Given the description of an element on the screen output the (x, y) to click on. 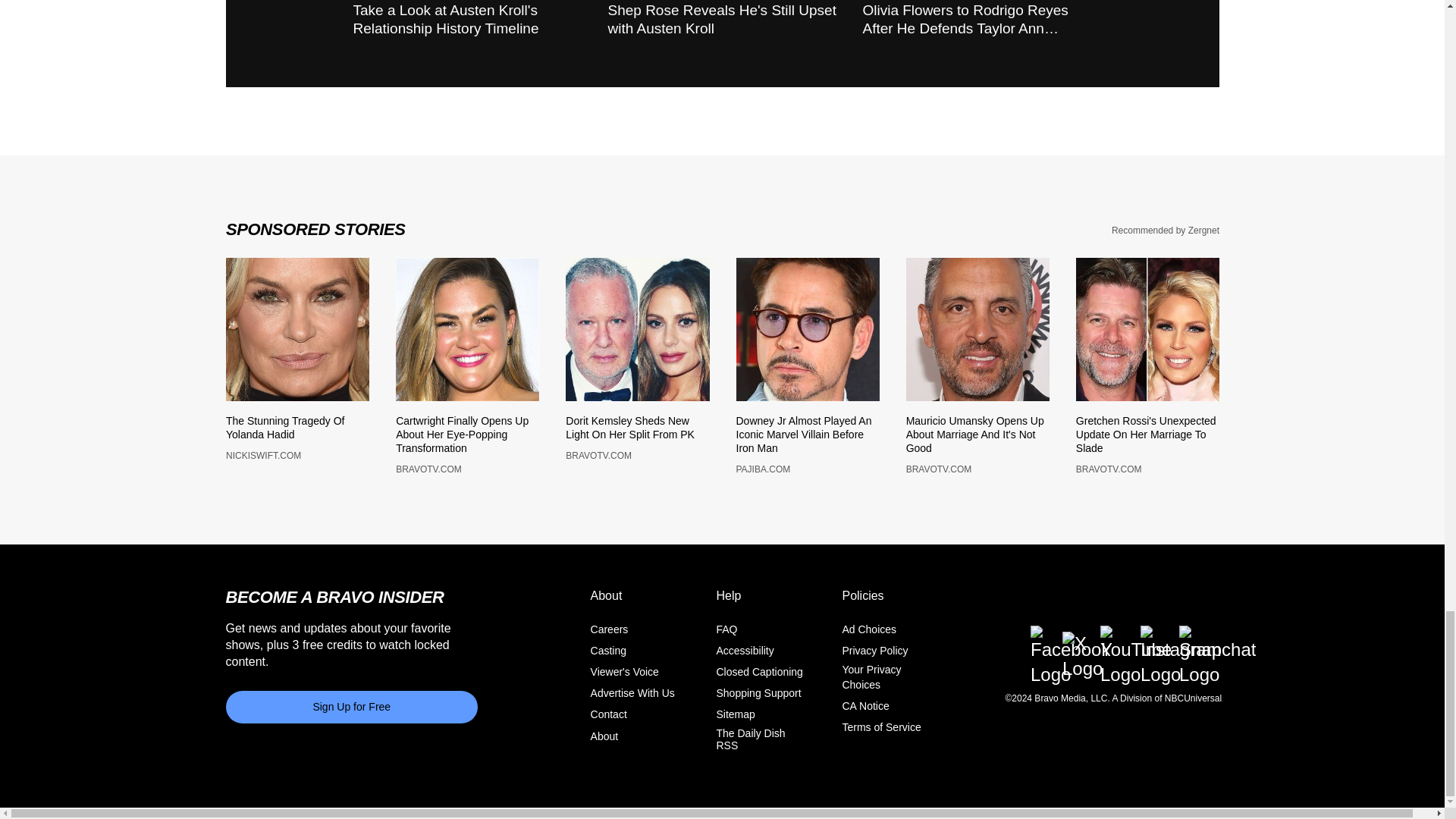
Advertise With Us (633, 702)
